Given the description of an element on the screen output the (x, y) to click on. 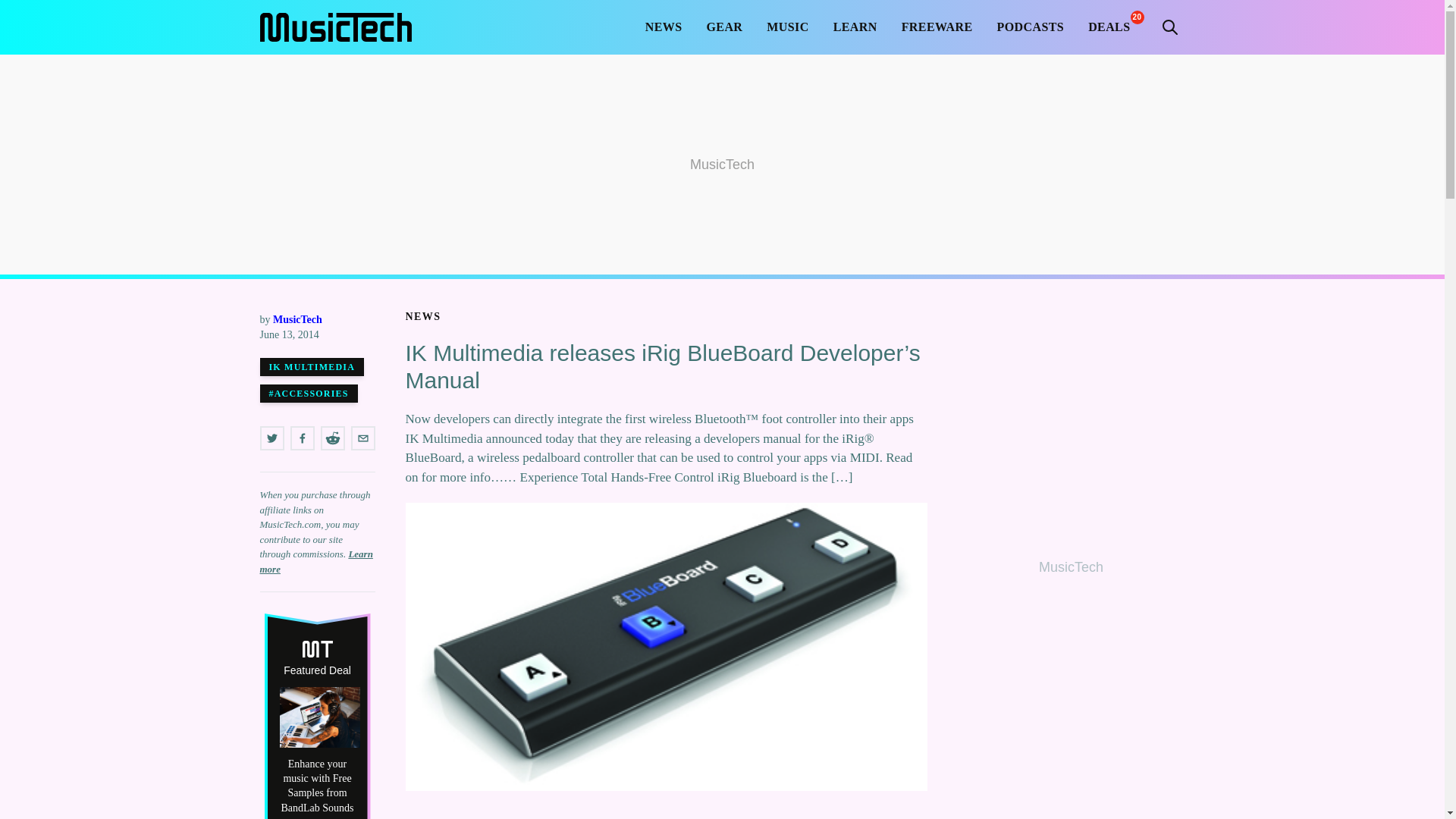
News (422, 316)
DEALS (1108, 27)
PODCASTS (1030, 27)
IK Multimedia (311, 366)
MUSIC (786, 27)
MusicTech (297, 319)
NEWS (422, 316)
Accessories (307, 393)
GEAR (724, 27)
MusicTech (334, 27)
Learn more (315, 560)
FREEWARE (936, 27)
Published June 12, 2014 4:59PM (316, 335)
LEARN (855, 27)
